Given the description of an element on the screen output the (x, y) to click on. 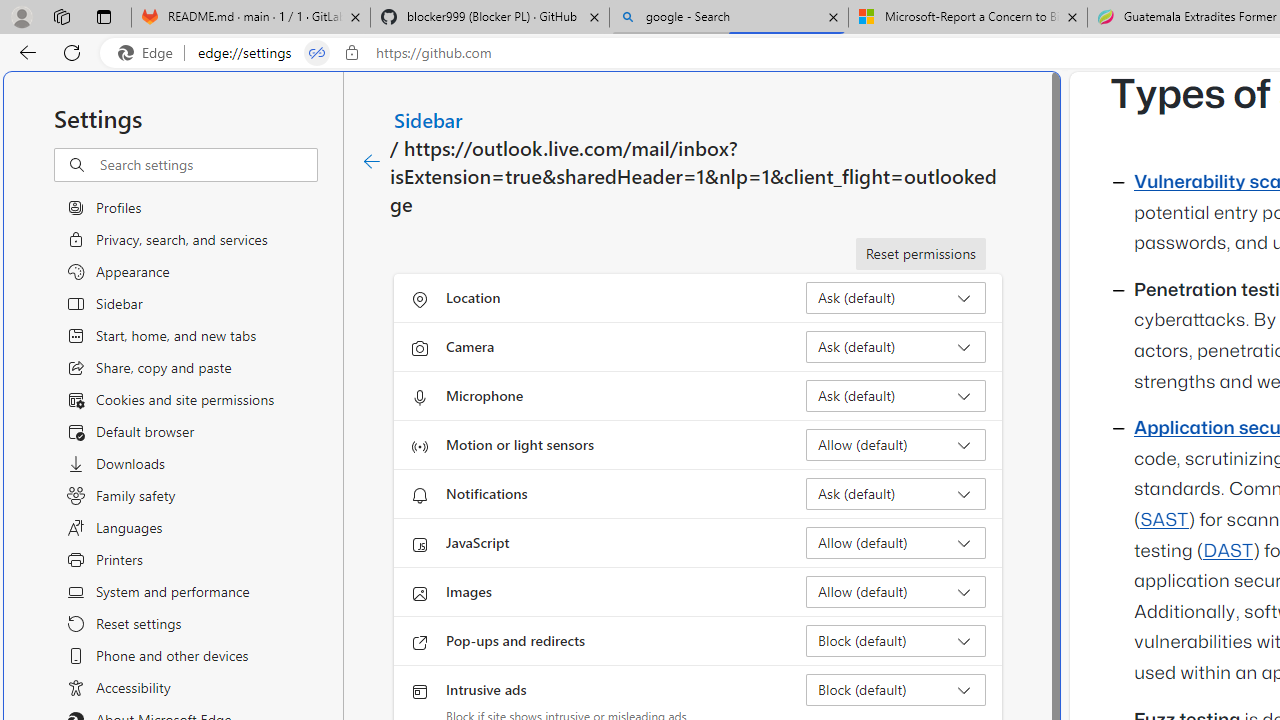
Search settings (207, 165)
JavaScript Allow (default) (895, 542)
Sidebar (429, 119)
Location Ask (default) (895, 297)
Notifications Ask (default) (895, 493)
Tabs in split screen (317, 53)
DAST (1228, 551)
